Given the description of an element on the screen output the (x, y) to click on. 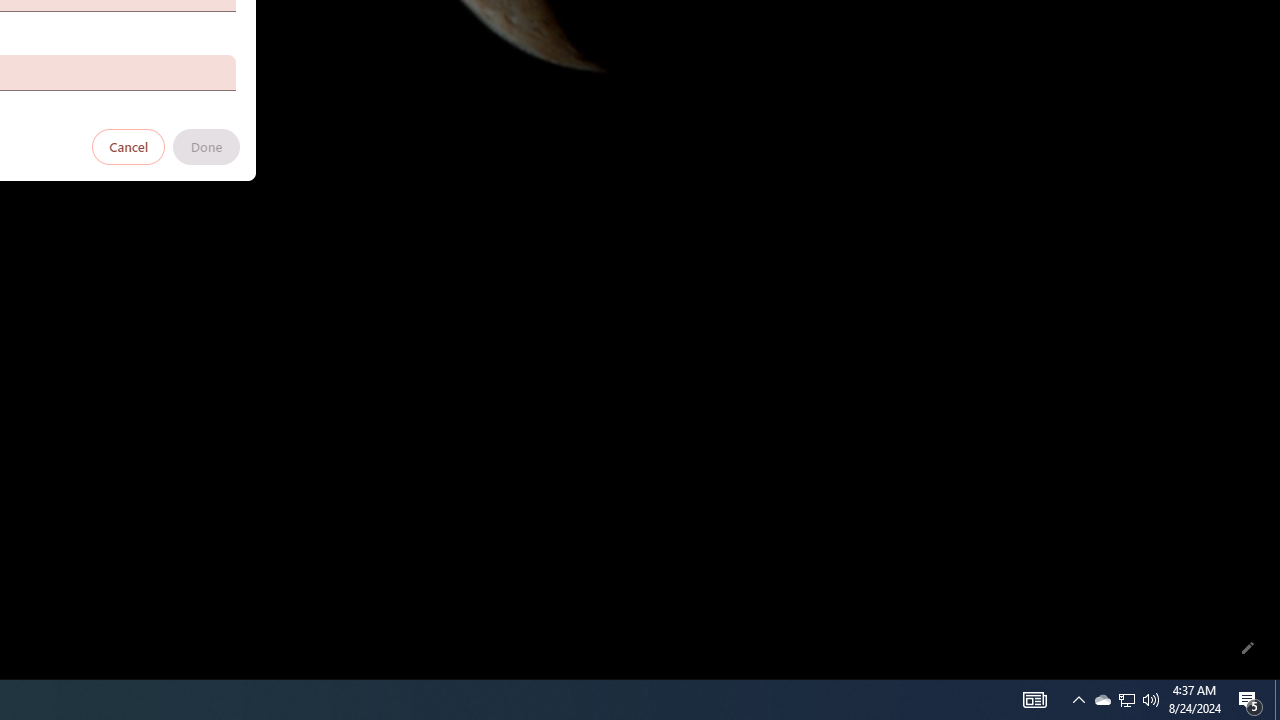
Done (206, 146)
Cancel (129, 146)
